Given the description of an element on the screen output the (x, y) to click on. 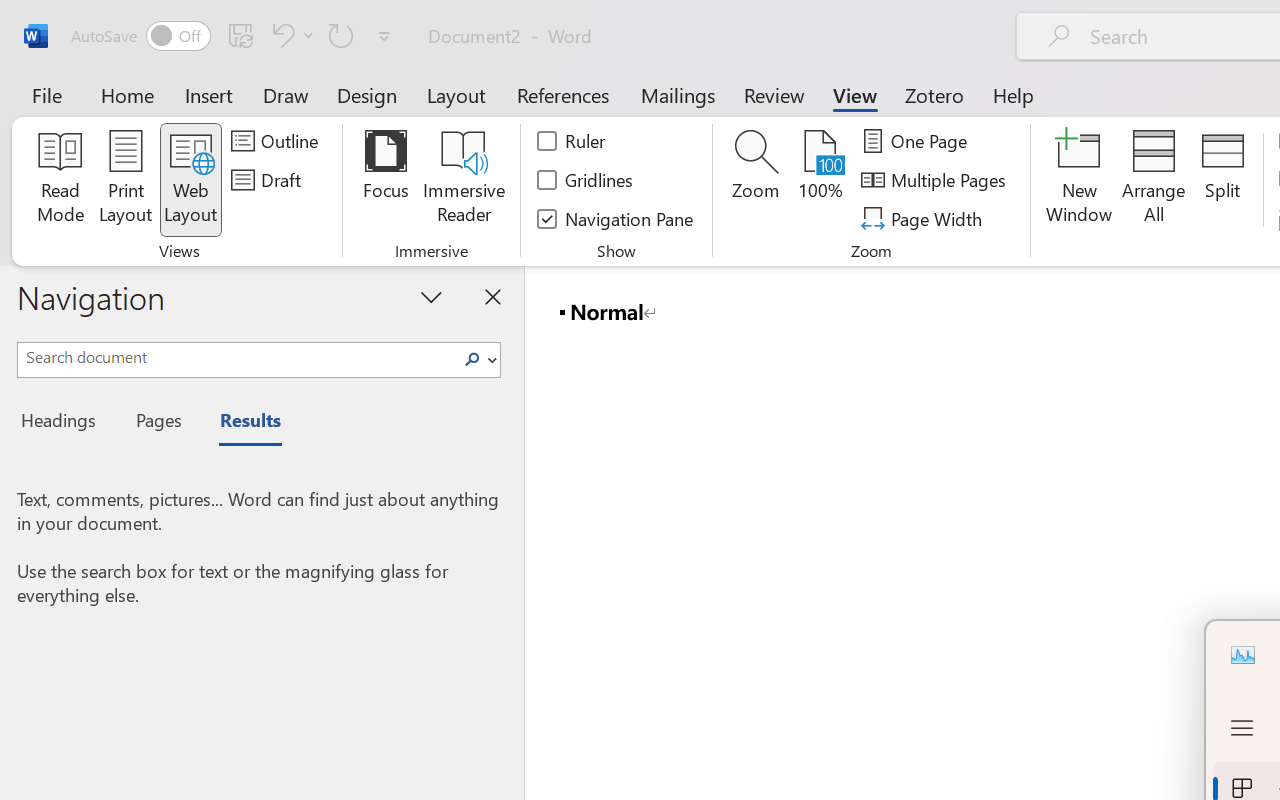
Review (774, 94)
One Page (917, 141)
Search (478, 359)
100% (820, 179)
Task Pane Options (431, 296)
Headings (64, 423)
Help (1013, 94)
Zoom... (755, 179)
Insert (209, 94)
Focus (385, 179)
Immersive Reader (464, 179)
Gridlines (586, 179)
